Given the description of an element on the screen output the (x, y) to click on. 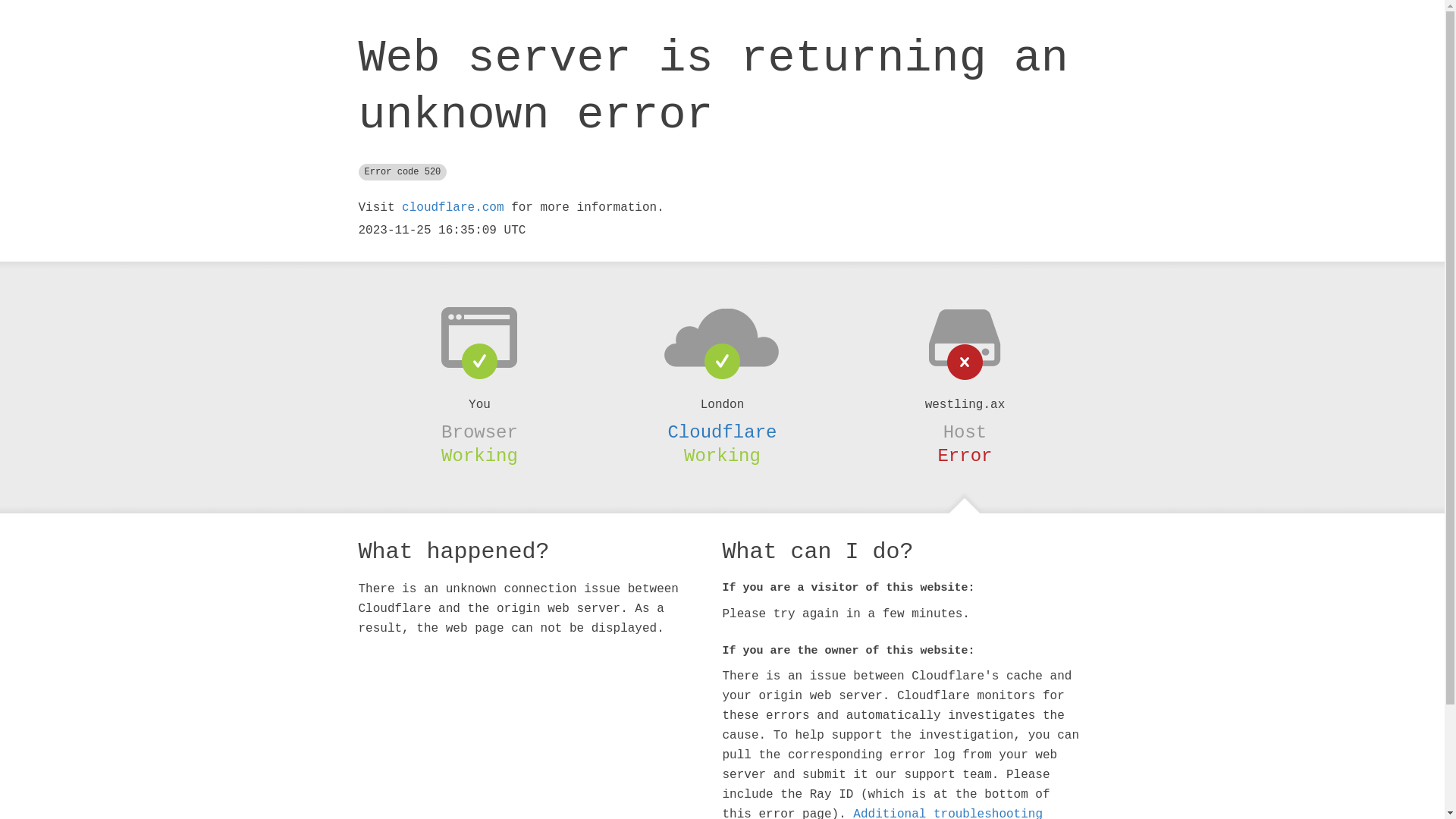
Cloudflare Element type: text (721, 432)
cloudflare.com Element type: text (452, 207)
